Given the description of an element on the screen output the (x, y) to click on. 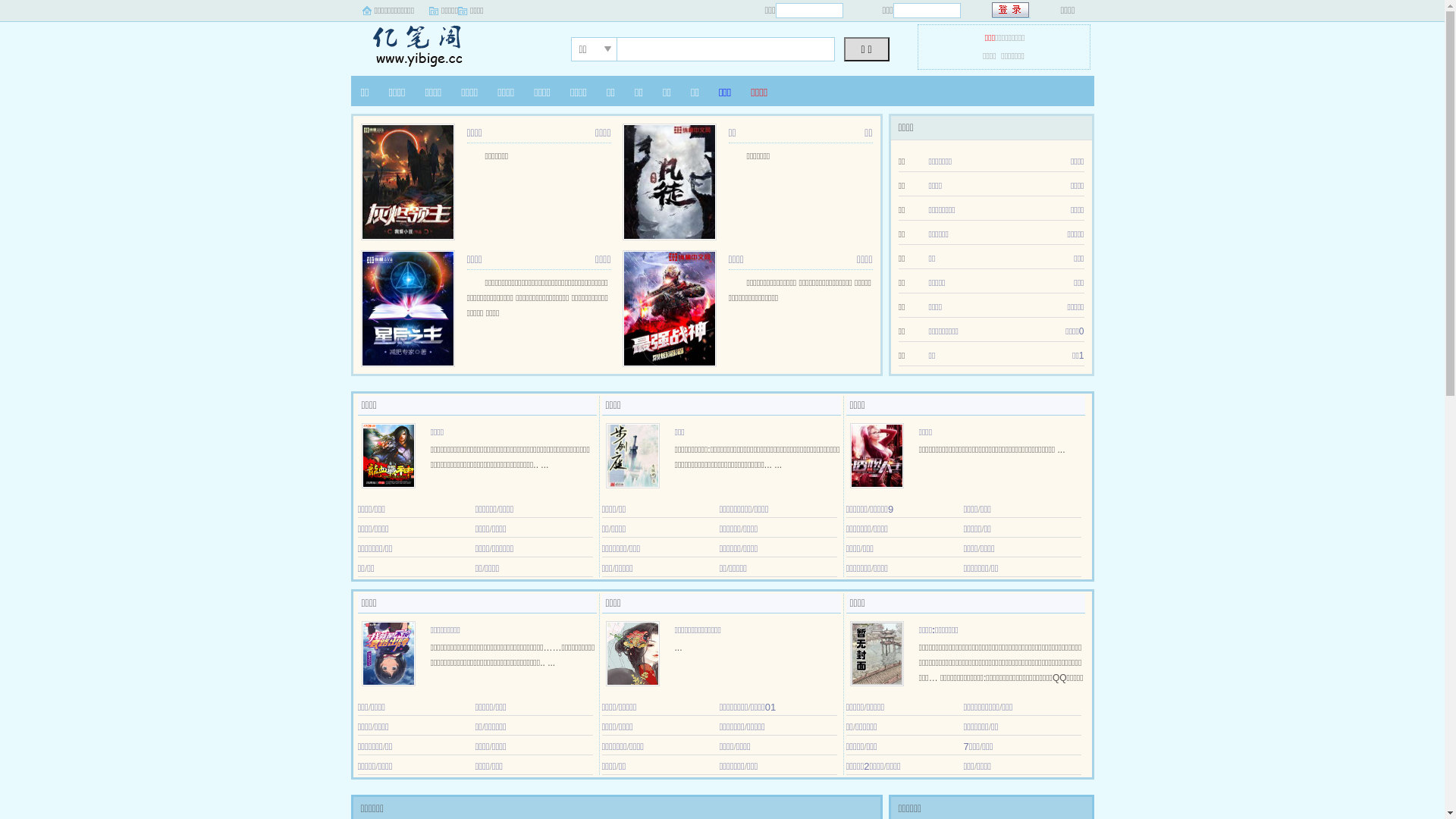
  Element type: text (1010, 10)
